Given the description of an element on the screen output the (x, y) to click on. 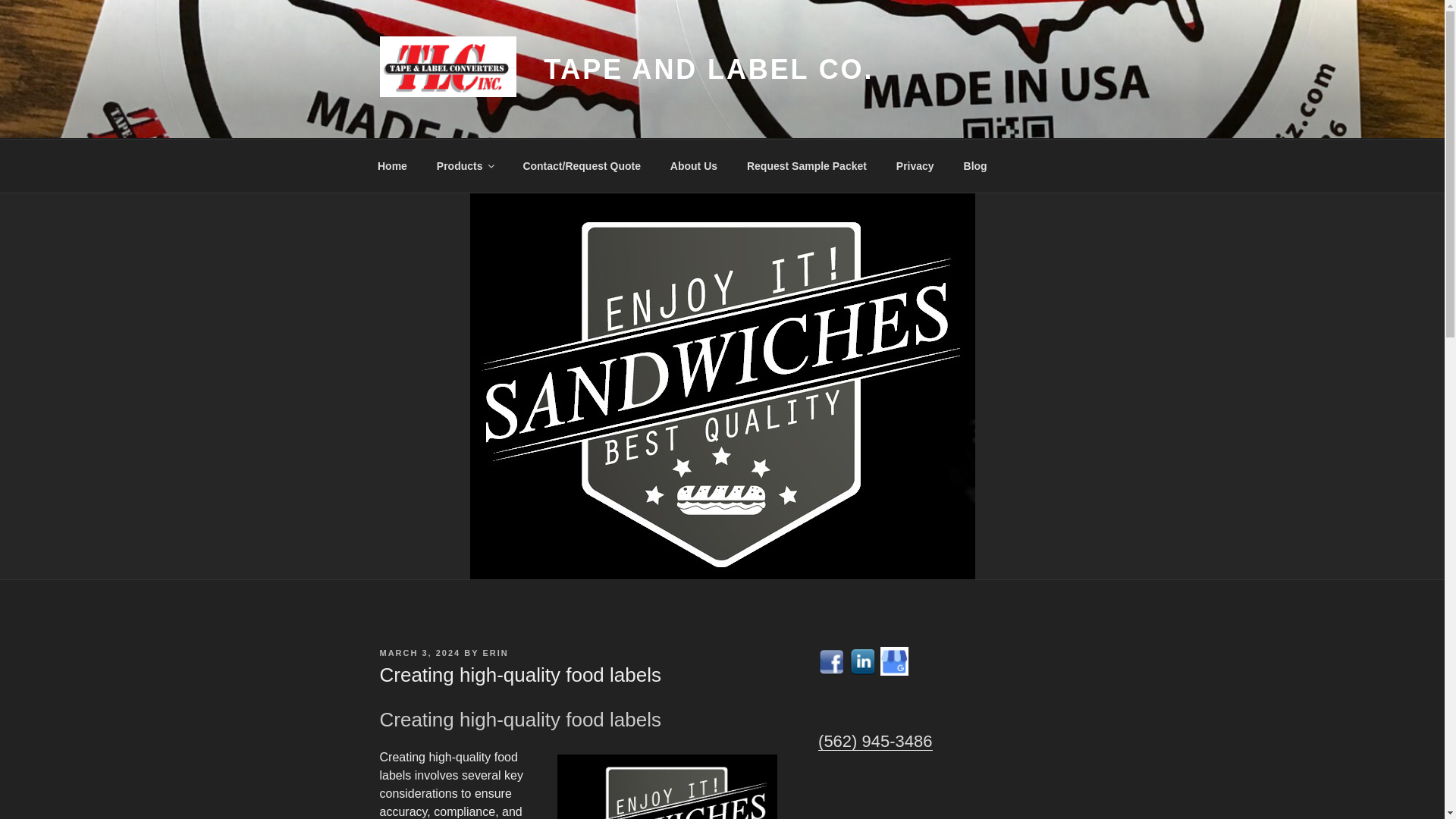
LinkedIn (862, 661)
Privacy (914, 165)
Request Sample Packet (806, 165)
MARCH 3, 2024 (419, 652)
Home (392, 165)
TAPE AND LABEL CO. (708, 69)
About Us (693, 165)
ERIN (494, 652)
Google Business (894, 661)
Products (464, 165)
